Given the description of an element on the screen output the (x, y) to click on. 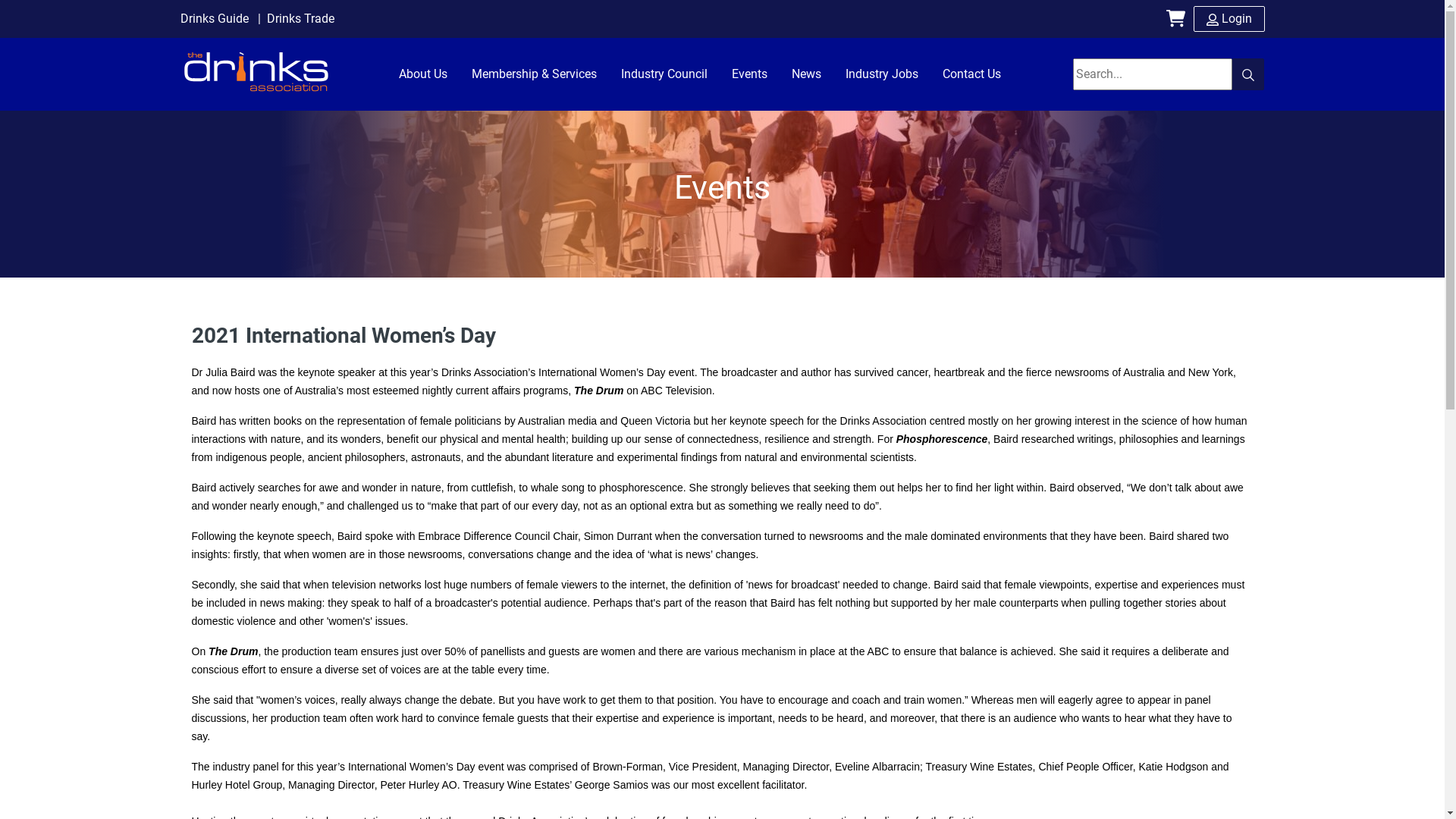
Membership & Services Element type: text (533, 73)
Login Element type: text (1228, 18)
Contact Us Element type: text (970, 73)
Drinks Guide Element type: text (214, 18)
Industry Council Element type: text (663, 73)
Drinks Trade Element type: text (292, 18)
About Us Element type: text (422, 73)
View shopping cart Element type: hover (1179, 18)
Events Element type: text (748, 73)
News Element type: text (806, 73)
Industry Jobs Element type: text (880, 73)
